Given the description of an element on the screen output the (x, y) to click on. 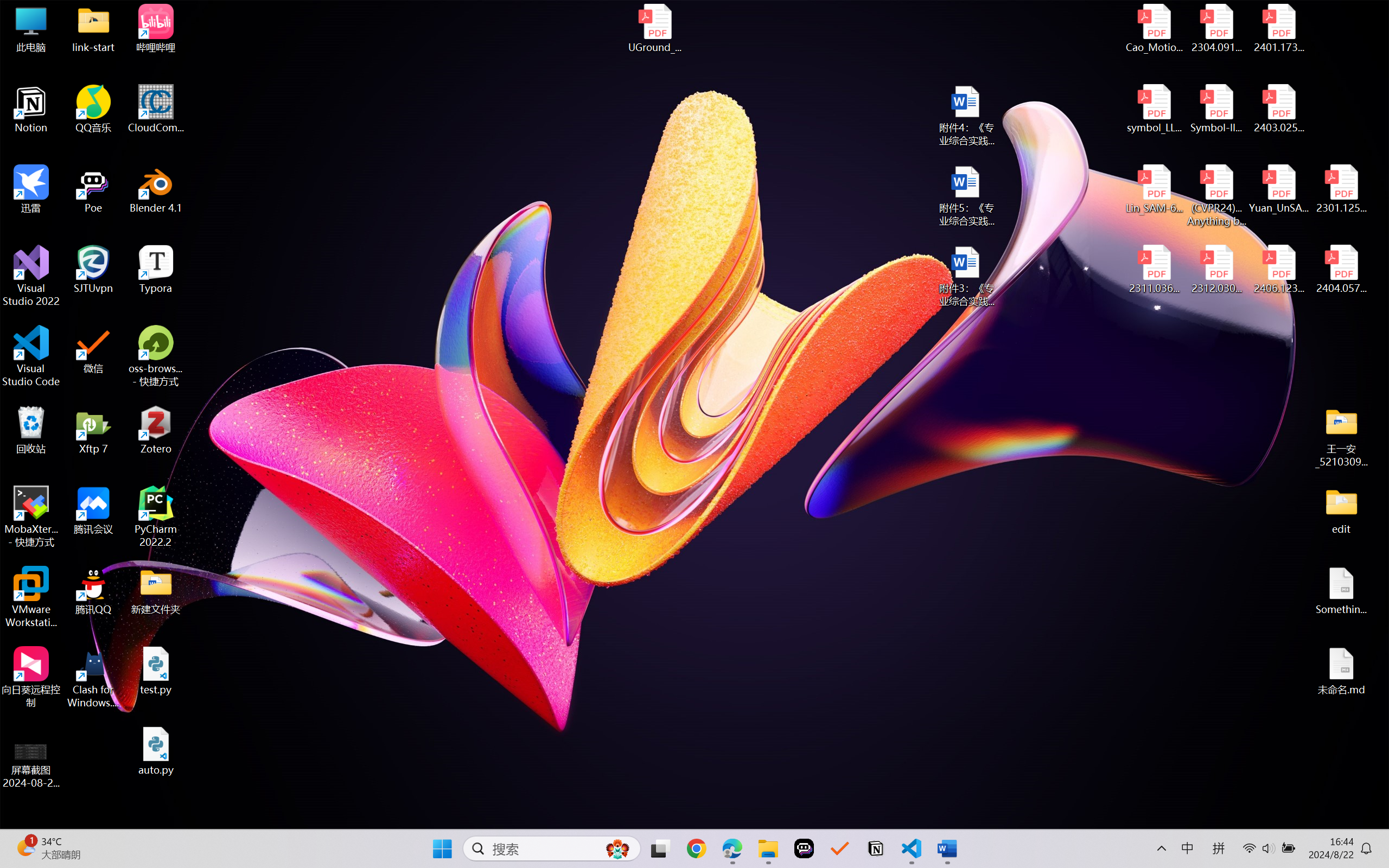
2311.03658v2.pdf (1154, 269)
2304.09121v3.pdf (1216, 28)
edit (1340, 510)
